Given the description of an element on the screen output the (x, y) to click on. 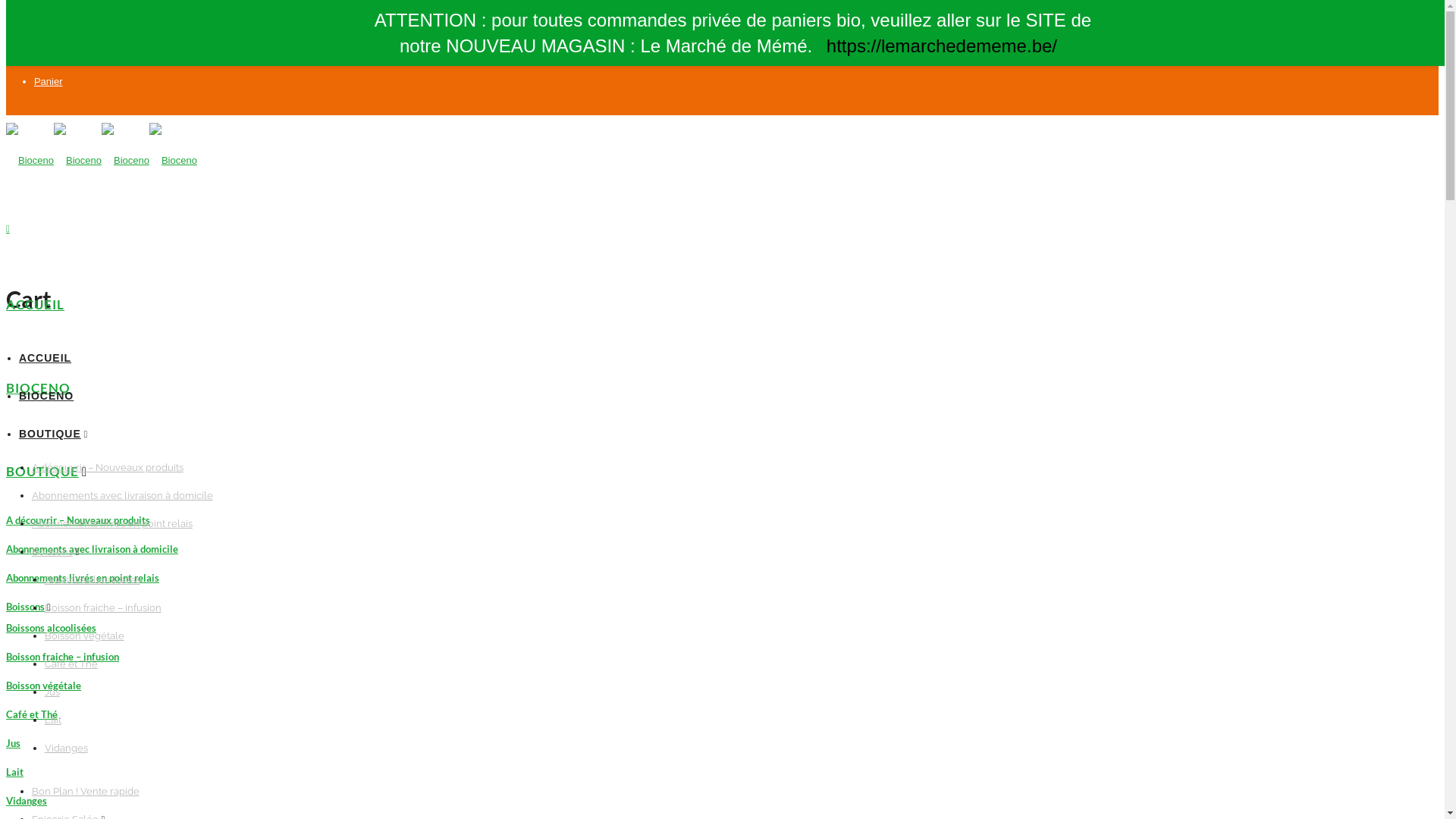
Bon Plan ! Vente rapide Element type: text (85, 791)
Lait Element type: text (14, 771)
BOUTIQUE Element type: text (49, 433)
Jus Element type: text (13, 743)
ACCUEIL Element type: text (35, 304)
Mon compte Element type: text (61, 56)
Vidanges Element type: text (65, 747)
Lait Element type: text (52, 719)
View your shopping cart Element type: hover (7, 228)
Jus Element type: text (51, 691)
BIOCENO Element type: text (38, 387)
Boissons Element type: text (25, 606)
BOUTIQUE Element type: text (42, 471)
Panier Element type: text (48, 81)
Vidanges Element type: text (26, 800)
BIOCENO Element type: text (45, 395)
https://lemarchedememe.be/ Element type: text (941, 45)
ACCUEIL Element type: text (44, 357)
Boissons Element type: text (51, 551)
